Given the description of an element on the screen output the (x, y) to click on. 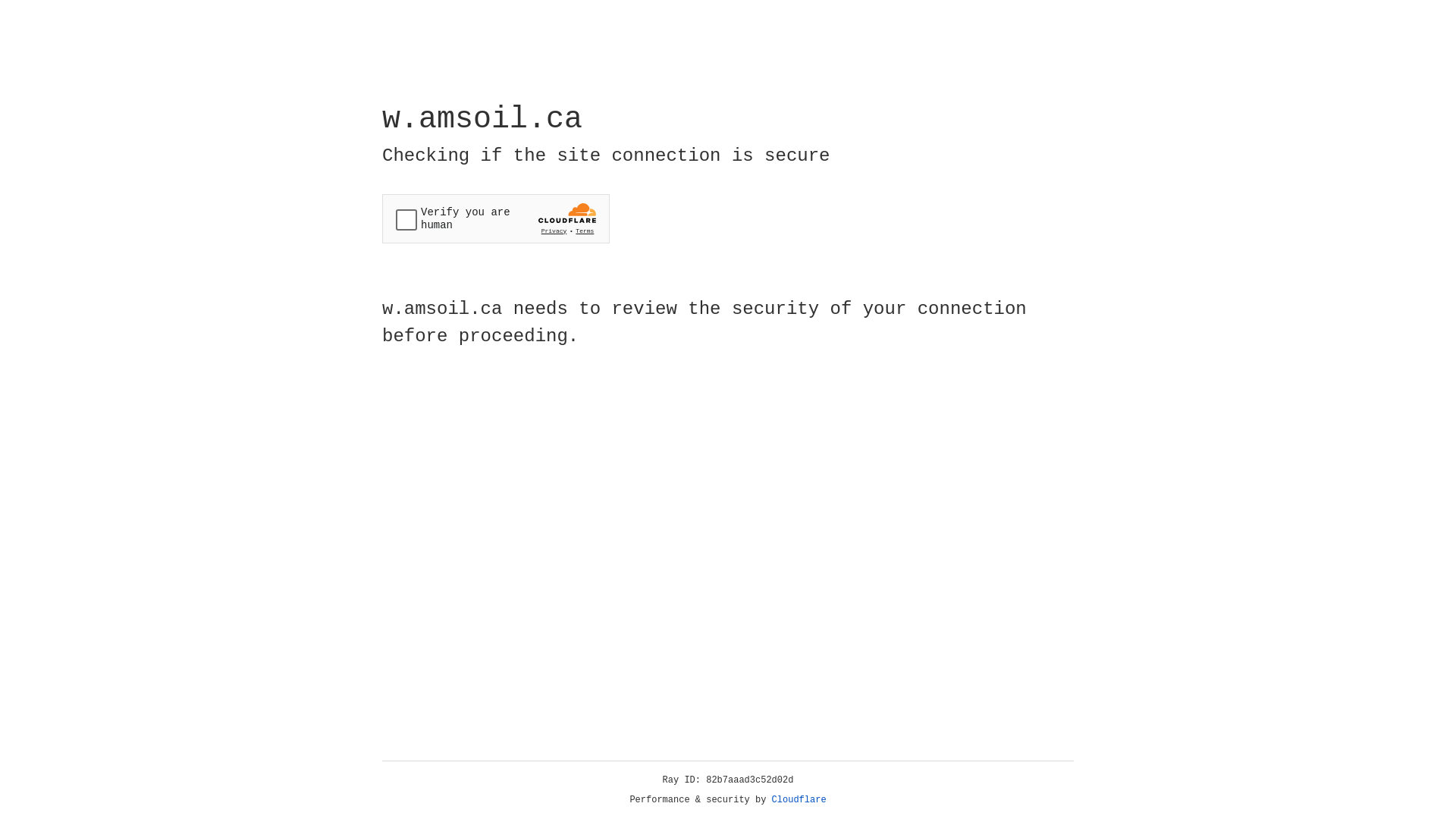
Cloudflare Element type: text (798, 799)
Widget containing a Cloudflare security challenge Element type: hover (495, 218)
